Given the description of an element on the screen output the (x, y) to click on. 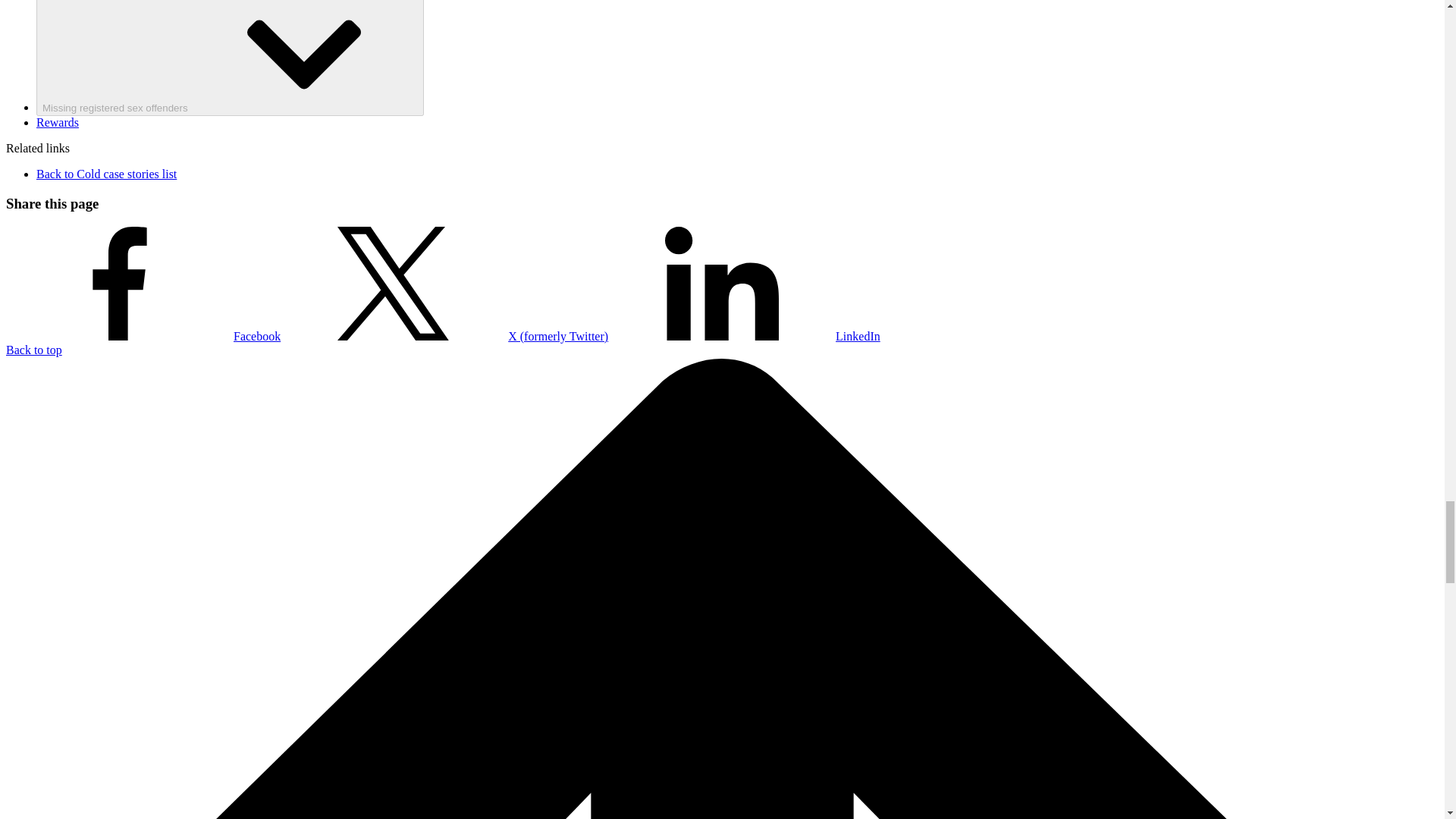
Back to Cold case stories list (106, 173)
Missing registered sex offenders (229, 58)
Rewards (57, 122)
Facebook (143, 336)
